Given the description of an element on the screen output the (x, y) to click on. 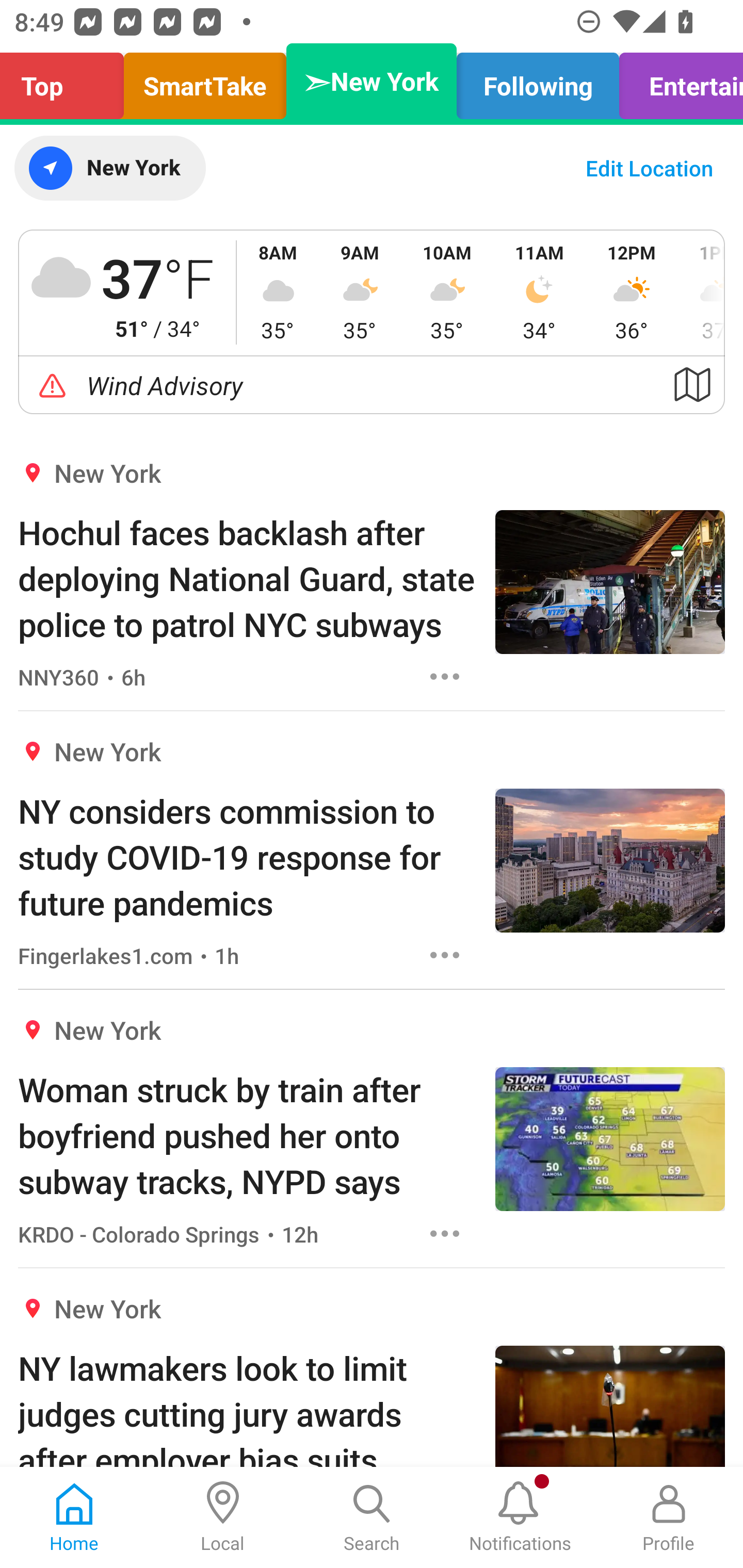
Top (67, 81)
SmartTake (204, 81)
➣New York (371, 81)
Following (537, 81)
New York (109, 168)
Edit Location (648, 168)
8AM 35° (277, 291)
9AM 35° (359, 291)
10AM 35° (447, 291)
11AM 34° (539, 291)
12PM 36° (631, 291)
Wind Advisory (371, 384)
Options (444, 676)
Options (444, 954)
Options (444, 1233)
Local (222, 1517)
Search (371, 1517)
Notifications, New notification Notifications (519, 1517)
Profile (668, 1517)
